Given the description of an element on the screen output the (x, y) to click on. 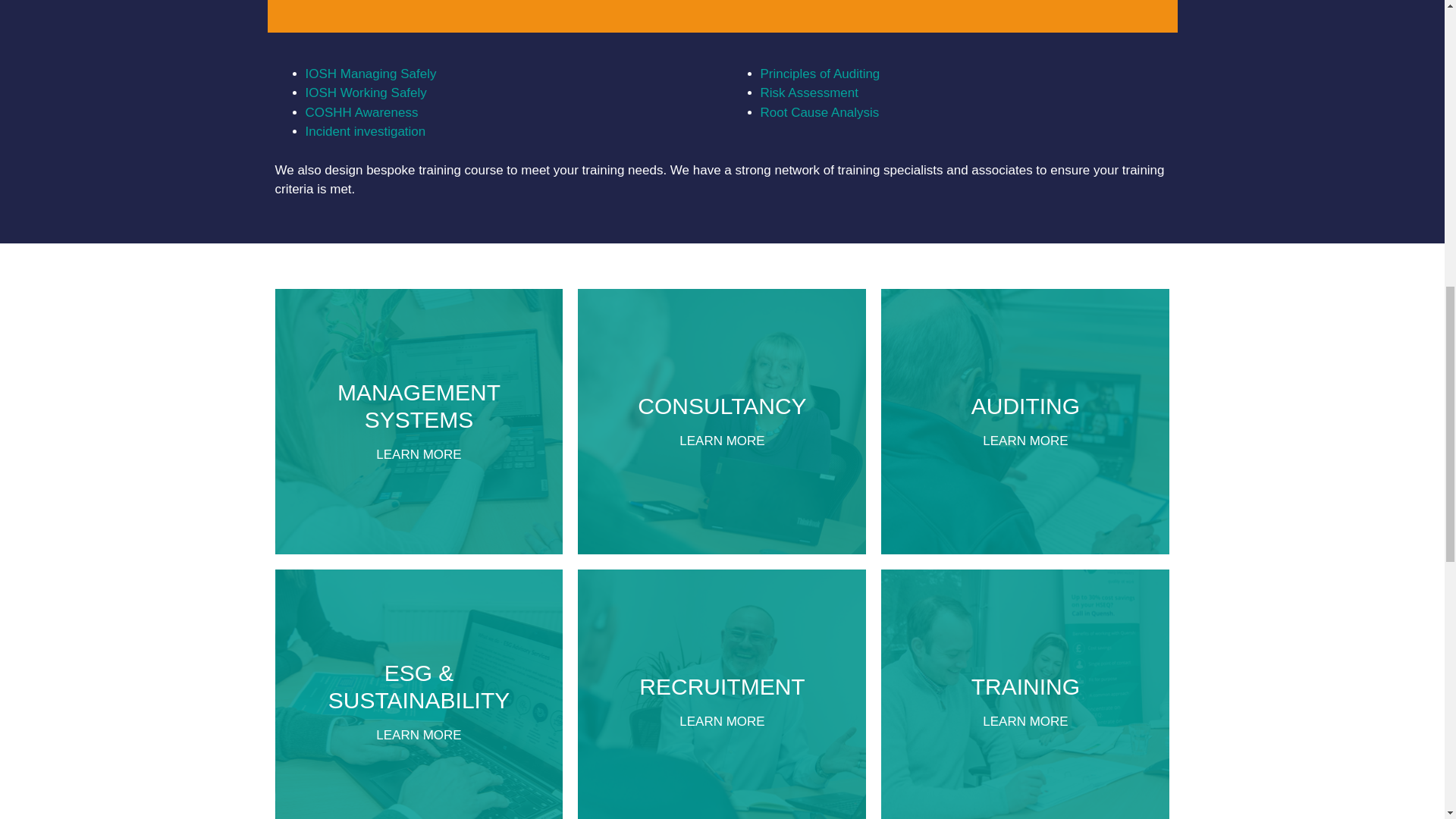
Principles of Auditing (1024, 421)
Risk Assessment (819, 73)
Root Cause Analysis (722, 694)
IOSH Working Safely (418, 421)
COSHH Awareness (722, 421)
Incident investigation (808, 92)
IOSH Managing Safely (819, 112)
